Given the description of an element on the screen output the (x, y) to click on. 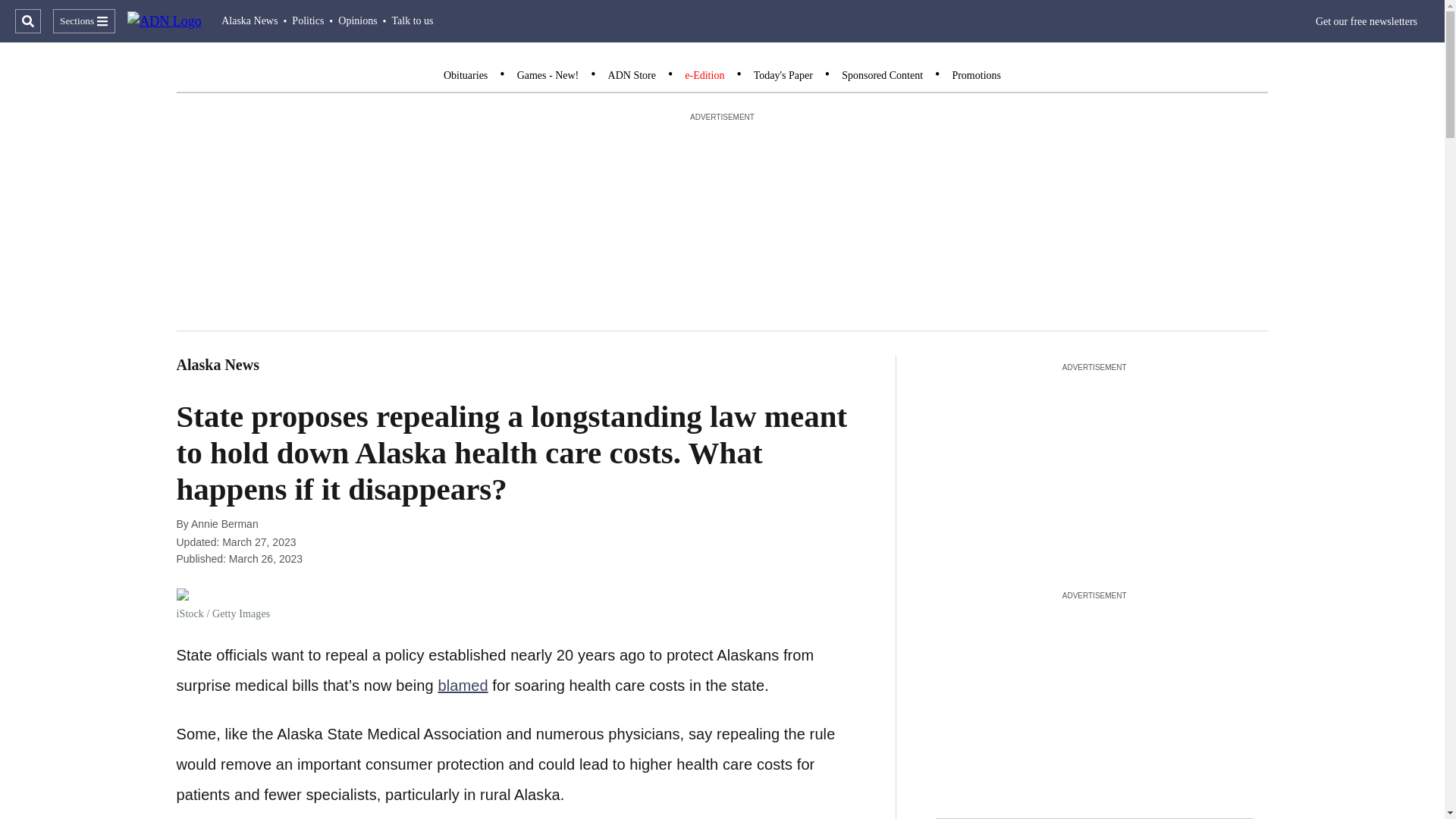
Politics (307, 20)
ADN Logo (165, 20)
Alaska News (249, 20)
Opinions (357, 20)
Sections (83, 21)
Get our free newsletters (1366, 21)
